Given the description of an element on the screen output the (x, y) to click on. 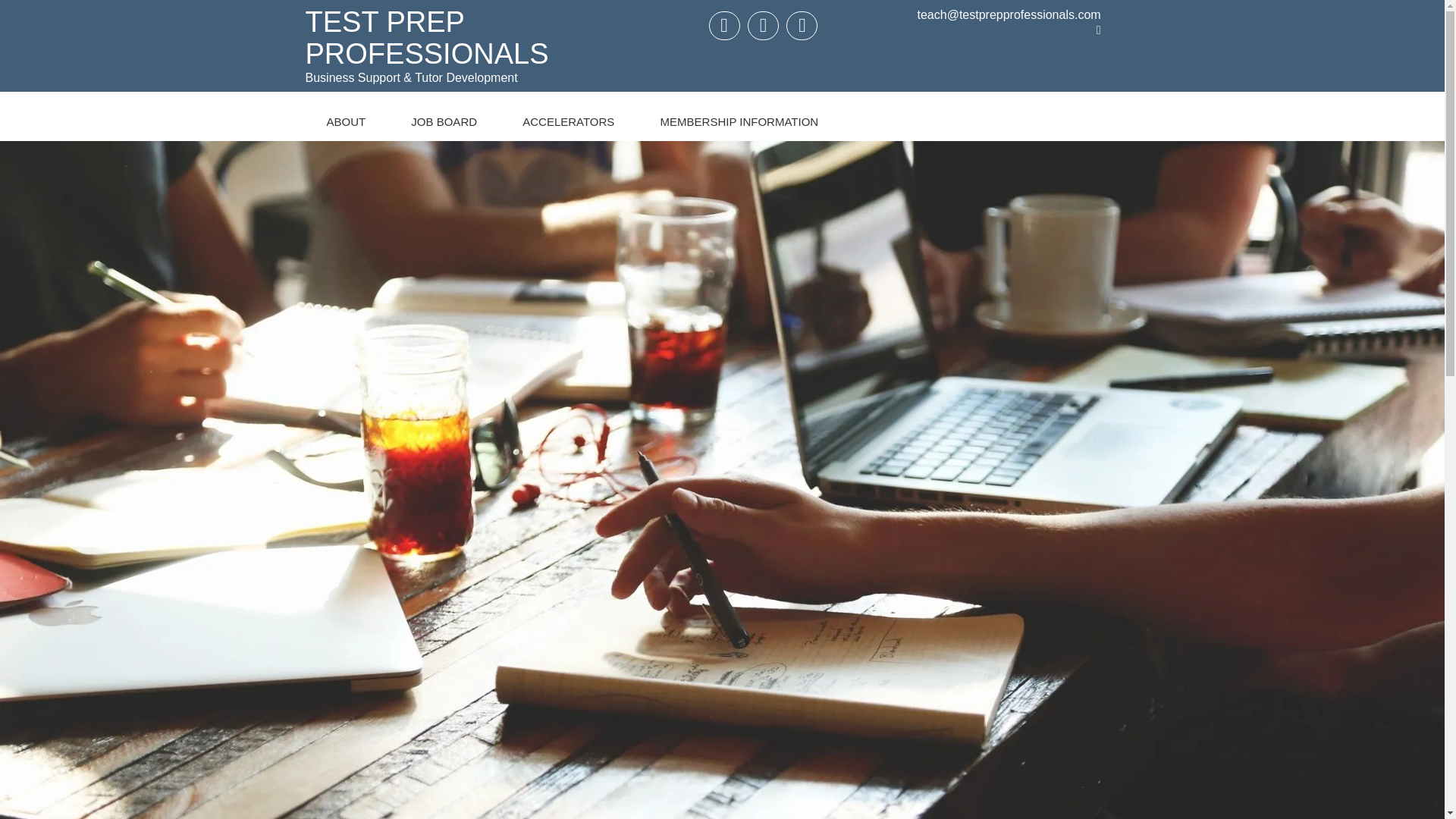
TEST PREP PROFESSIONALS (426, 37)
ABOUT (345, 115)
MEMBERSHIP INFORMATION (739, 115)
JOB BOARD (443, 115)
ACCELERATORS (567, 115)
